Given the description of an element on the screen output the (x, y) to click on. 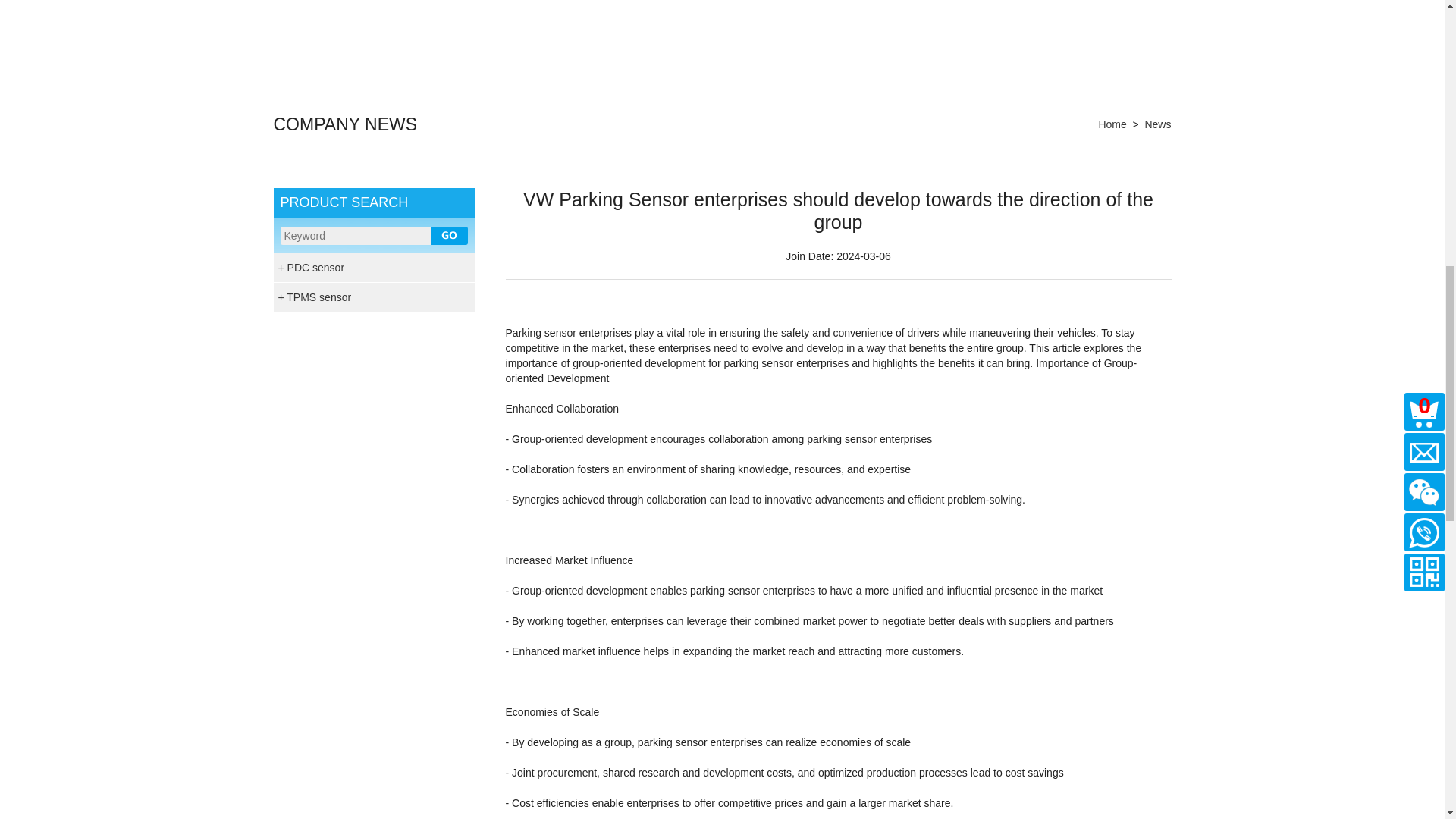
PDC sensor (373, 267)
Home (1111, 123)
PDC sensor (373, 267)
News (1157, 123)
